Given the description of an element on the screen output the (x, y) to click on. 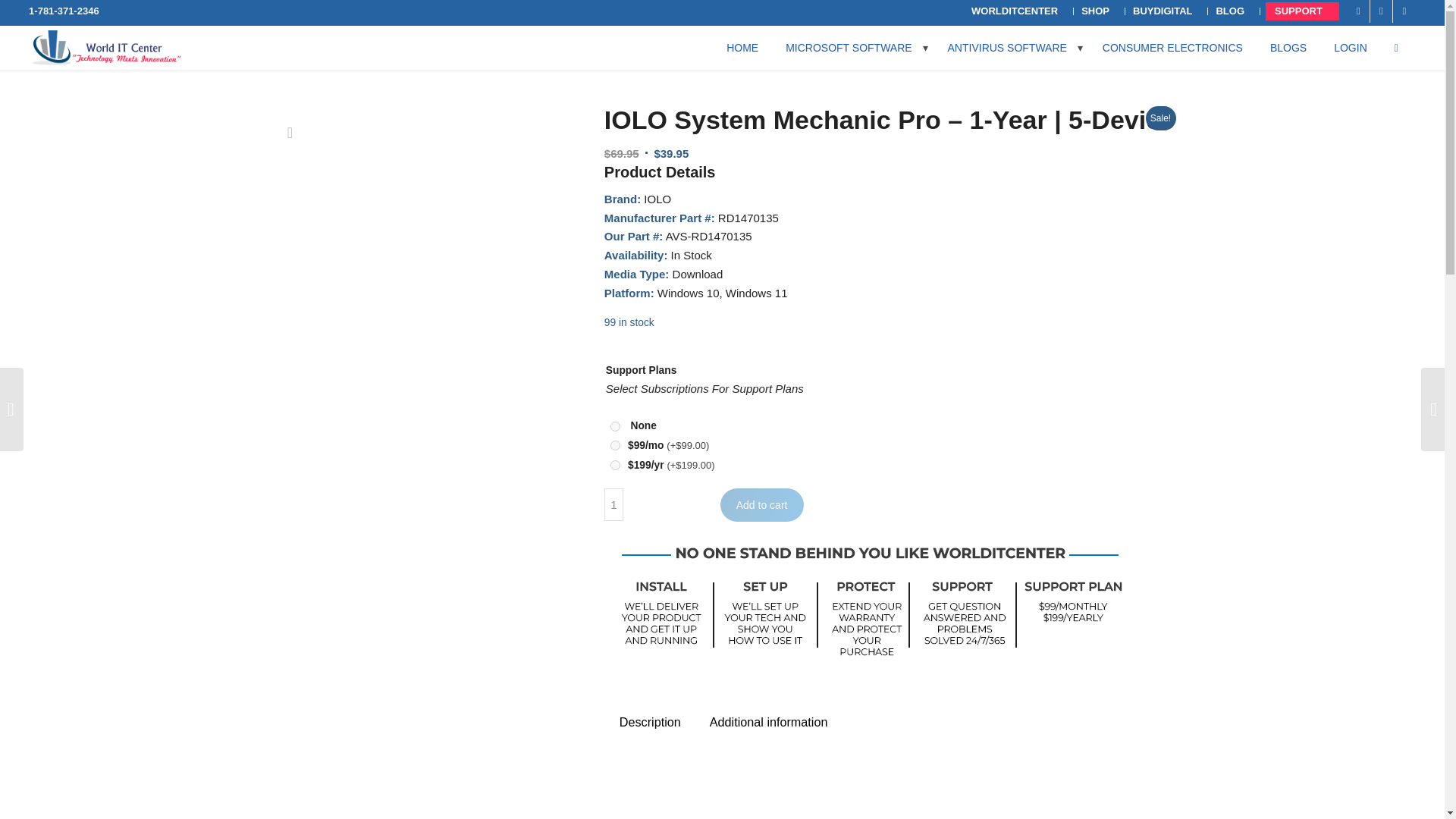
SUPPORT (1302, 11)
BLOG (1233, 11)
Youtube (1404, 11)
99-mo (614, 445)
LinkedIn (1380, 11)
Facebook (1359, 11)
SHOP (1098, 11)
shop (106, 47)
HOME (746, 47)
BUYDIGITAL (1165, 11)
